Given the description of an element on the screen output the (x, y) to click on. 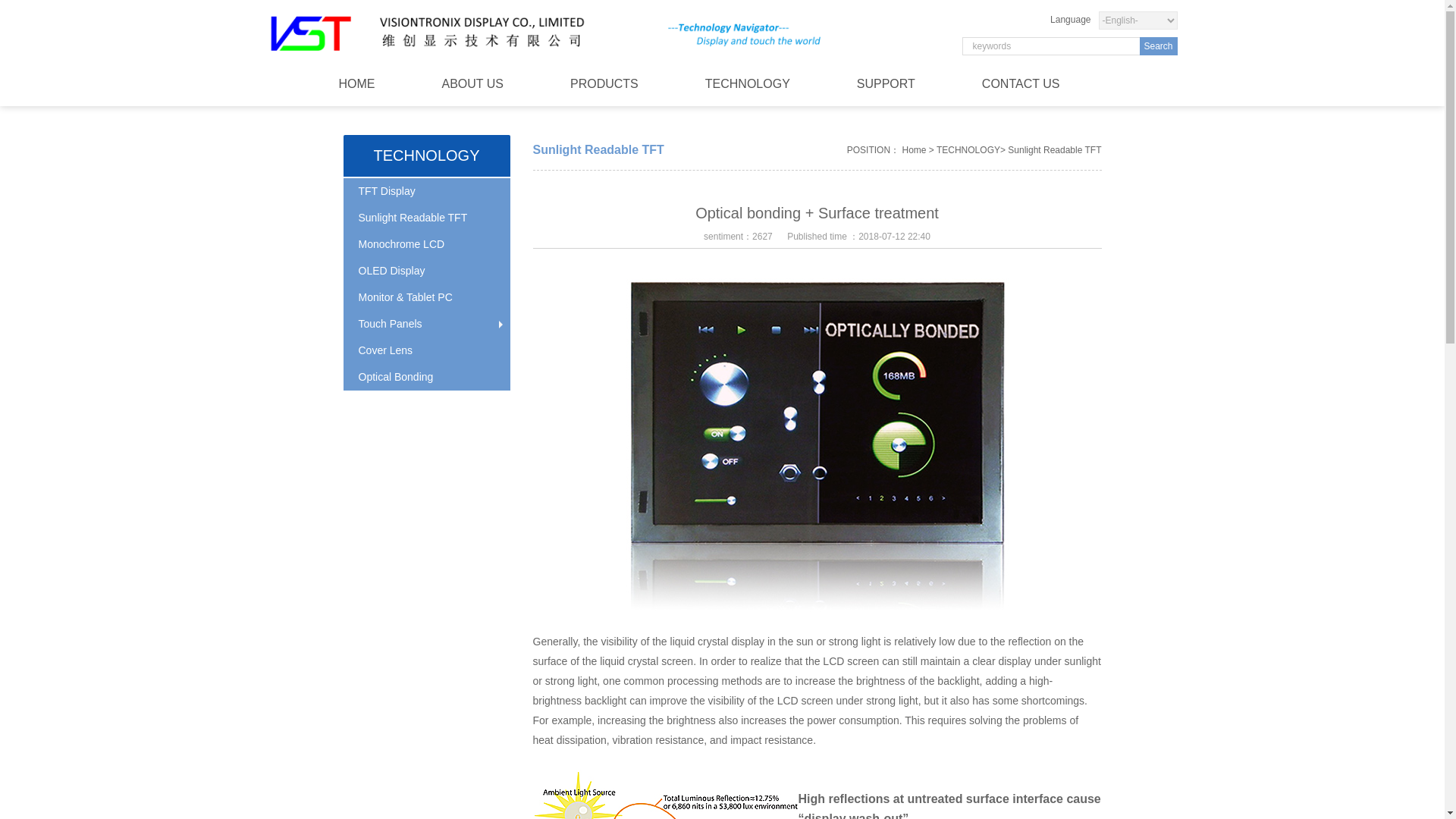
Touch Panels (425, 324)
Search (1157, 45)
Monochrome LCD (425, 243)
Optical Bonding (425, 376)
OLED Display (425, 270)
keywords (1049, 45)
ABOUT US (473, 83)
Sunlight Readable TFT (425, 217)
SUPPORT (886, 83)
Cover Lens (425, 350)
